Given the description of an element on the screen output the (x, y) to click on. 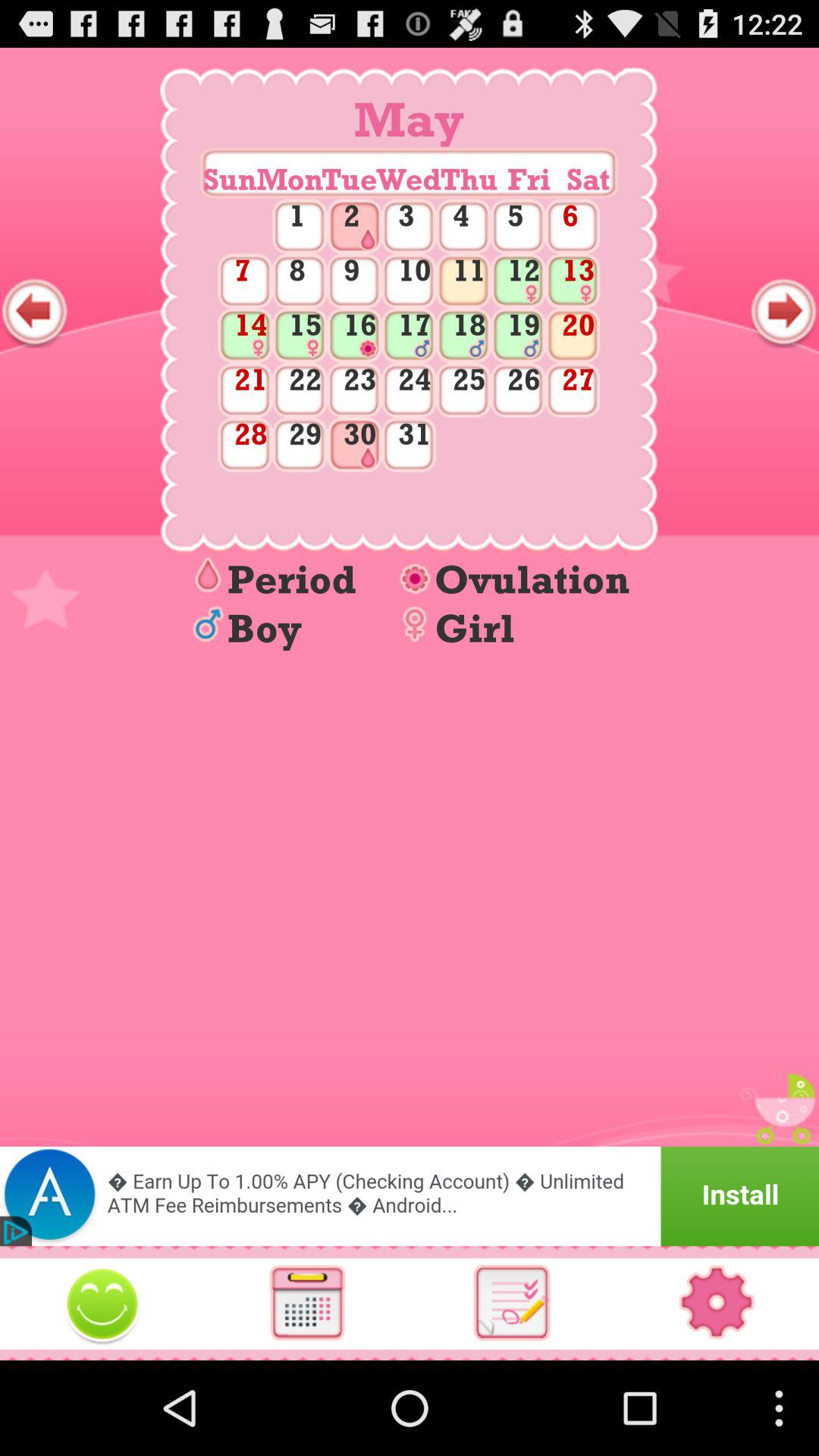
next screen (784, 311)
